Given the description of an element on the screen output the (x, y) to click on. 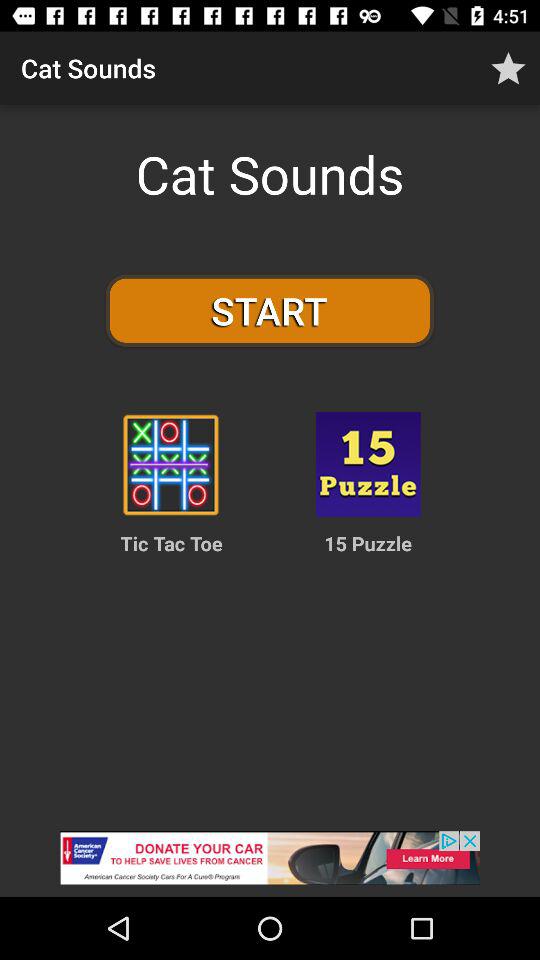
play tic tac toe (170, 464)
